Given the description of an element on the screen output the (x, y) to click on. 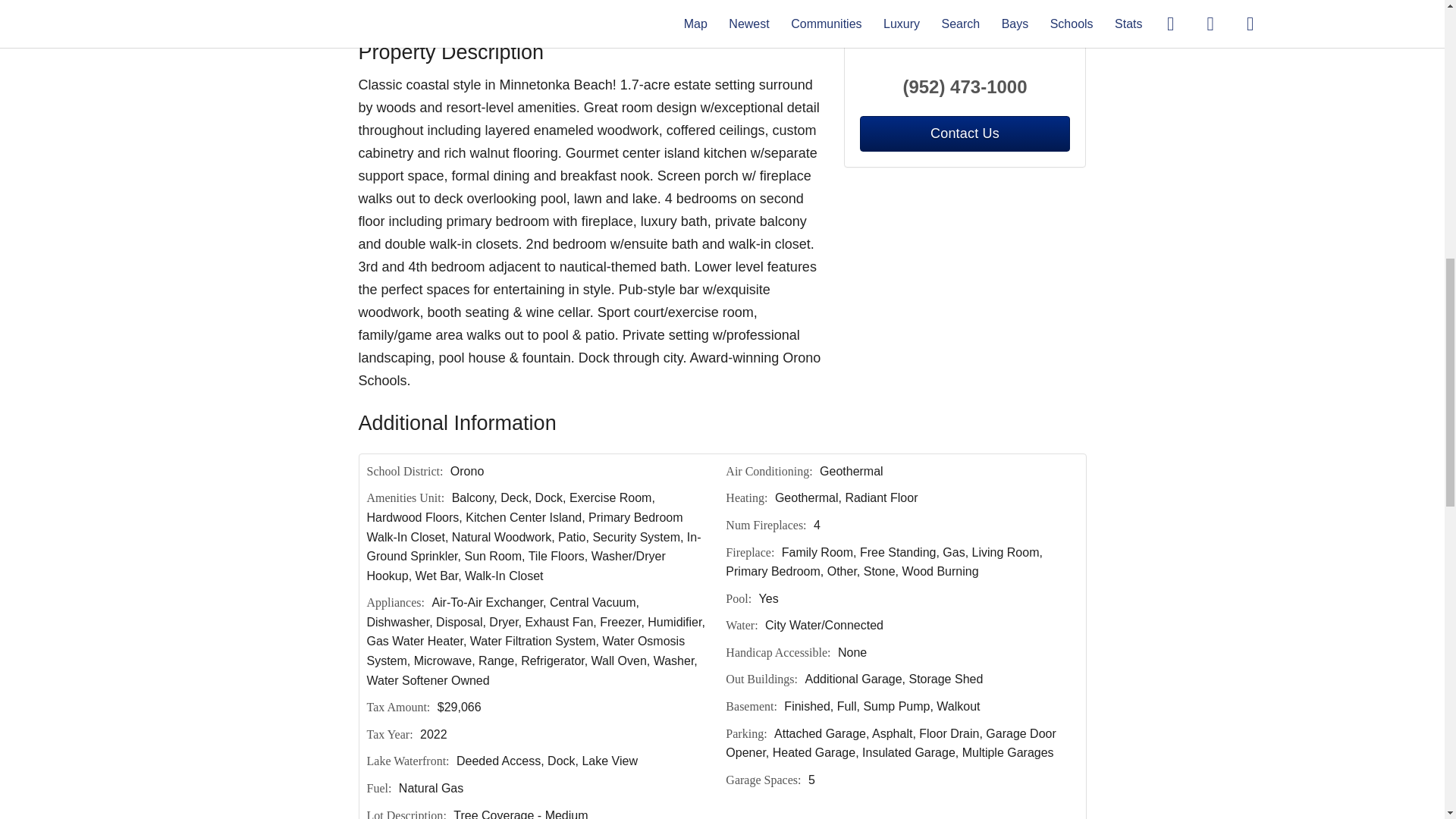
Call Us (483, 10)
Contact Us (965, 133)
View on Map (564, 10)
New Search (1040, 10)
Contact Us (407, 10)
